Given the description of an element on the screen output the (x, y) to click on. 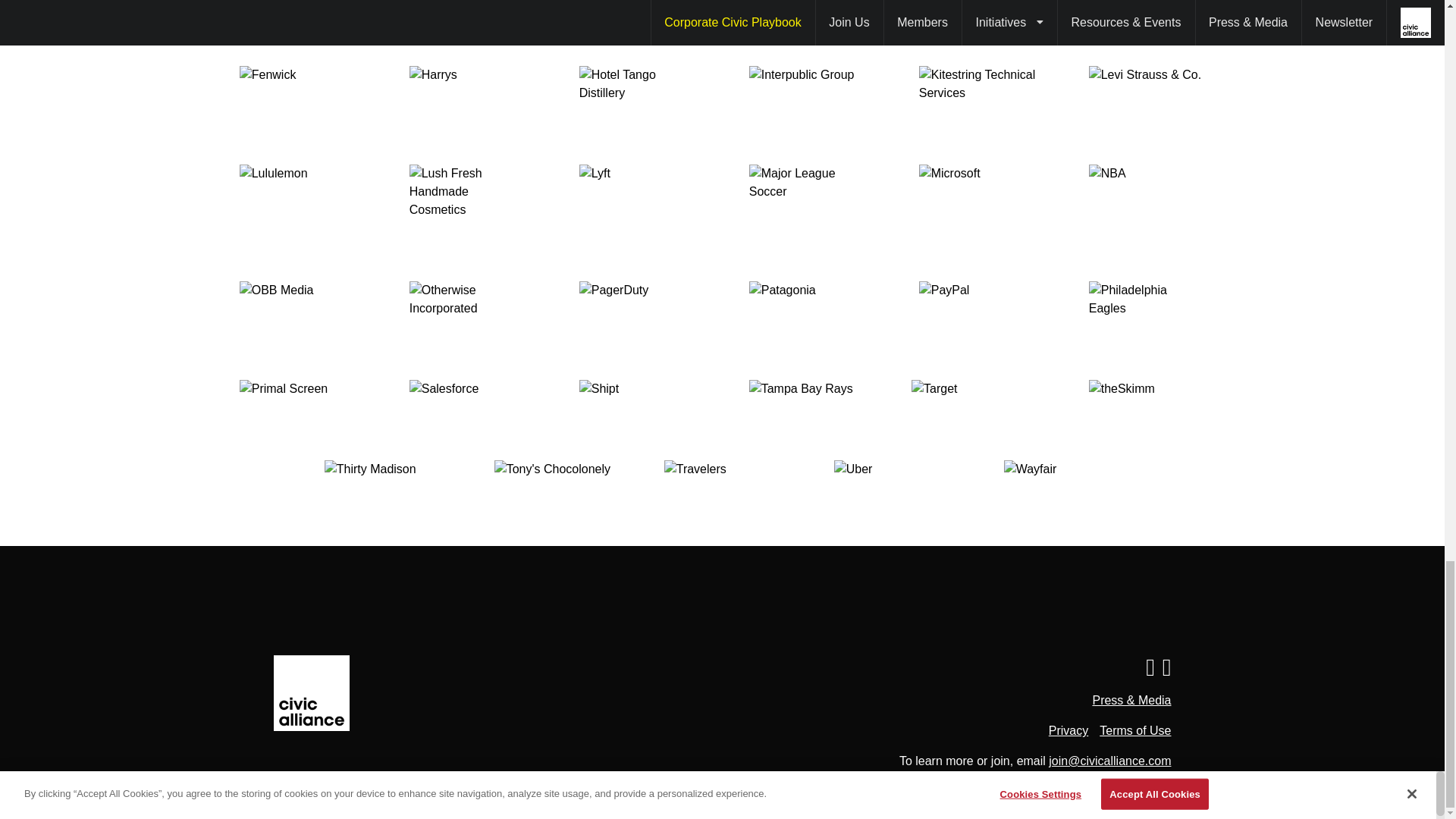
BLK (296, 17)
Creative Artists Agency (806, 17)
Hotel Tango Distillery (636, 84)
Campbell Ewald (636, 17)
Terms of Use (1134, 730)
Dow (976, 17)
Eden Health (1146, 17)
Boston Consulting Group (466, 17)
Privacy (1067, 730)
Fenwick (296, 84)
